Given the description of an element on the screen output the (x, y) to click on. 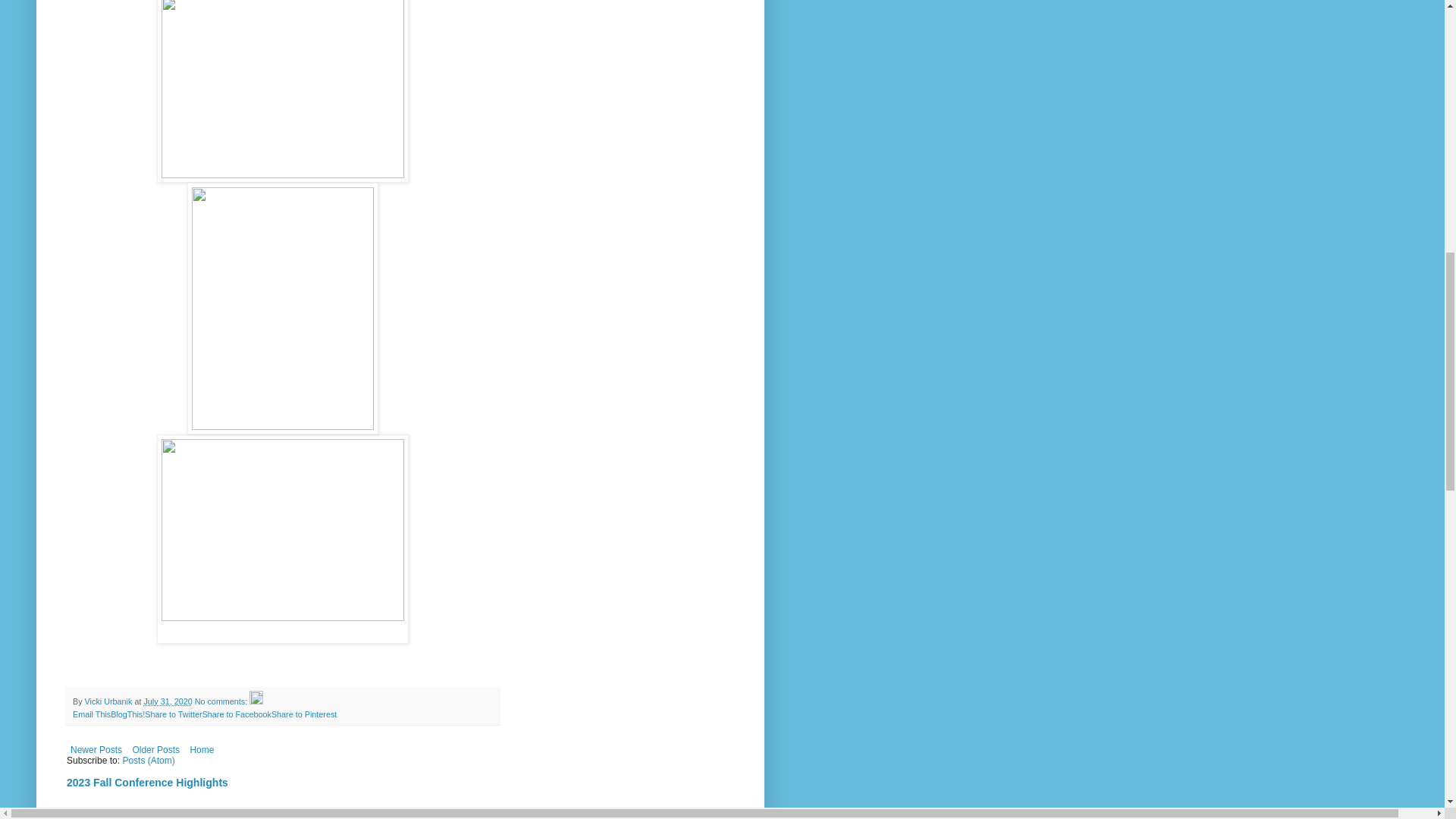
2023 Fall Conference Highlights (147, 782)
BlogThis! (127, 714)
author profile (109, 700)
BlogThis! (127, 714)
Older Posts (155, 750)
permanent link (167, 700)
Share to Pinterest (303, 714)
Newer Posts (95, 750)
Share to Twitter (173, 714)
Edit Post (255, 700)
Home (201, 750)
Share to Twitter (173, 714)
Email This (91, 714)
No comments: (222, 700)
Share to Facebook (236, 714)
